Given the description of an element on the screen output the (x, y) to click on. 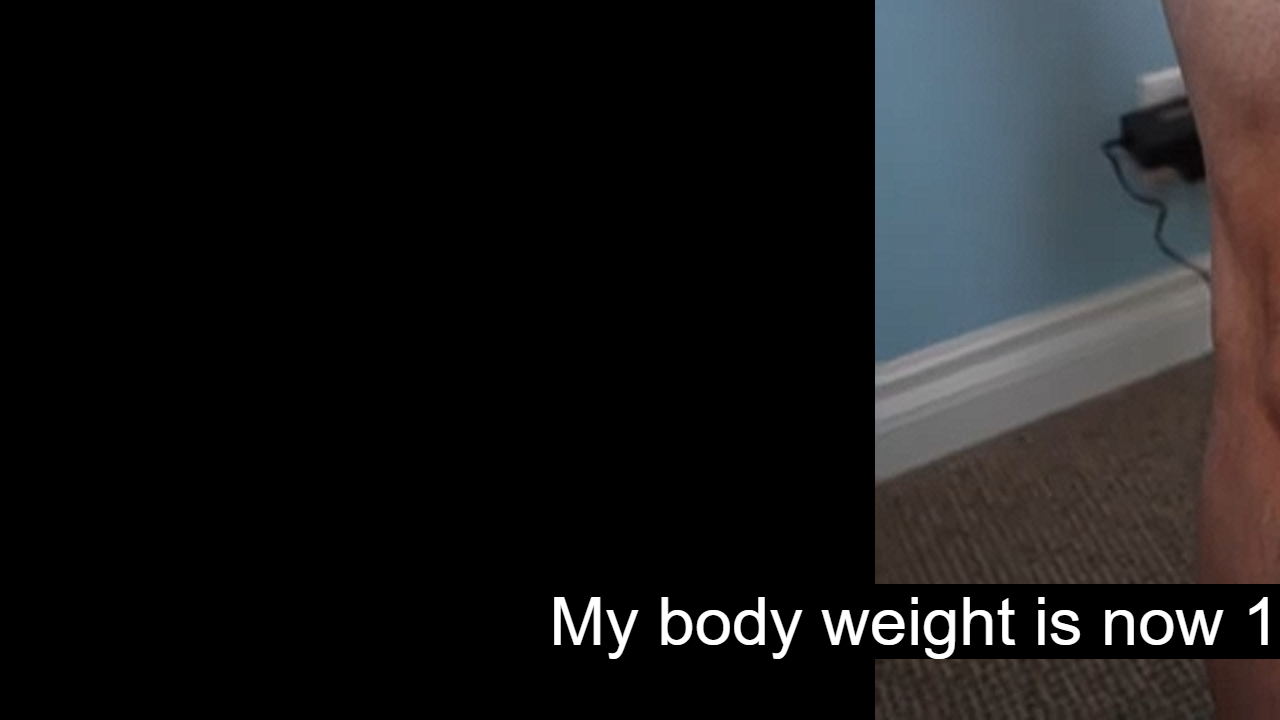
Pause (29, 697)
Seek Back (69, 697)
Seek Forward (109, 697)
